Given the description of an element on the screen output the (x, y) to click on. 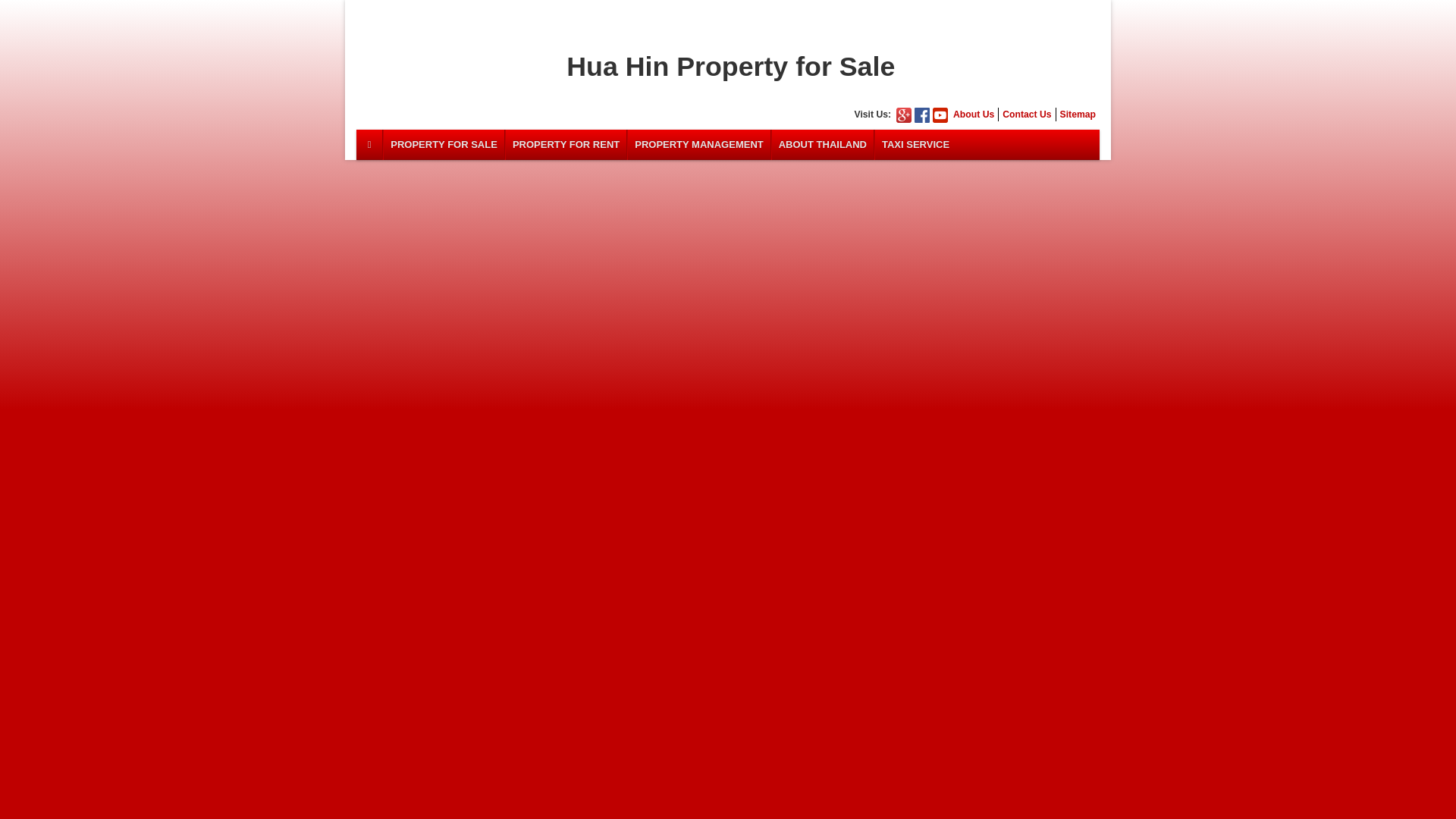
Sitemap (1077, 113)
TAXI SERVICE (915, 143)
Contact Us (1027, 113)
PROPERTY FOR RENT (565, 143)
About Us (973, 113)
PROPERTY MANAGEMENT (698, 143)
facebook (922, 114)
Sitemap (1077, 113)
About Us (973, 113)
PROPERTY FOR SALE (443, 143)
